Given the description of an element on the screen output the (x, y) to click on. 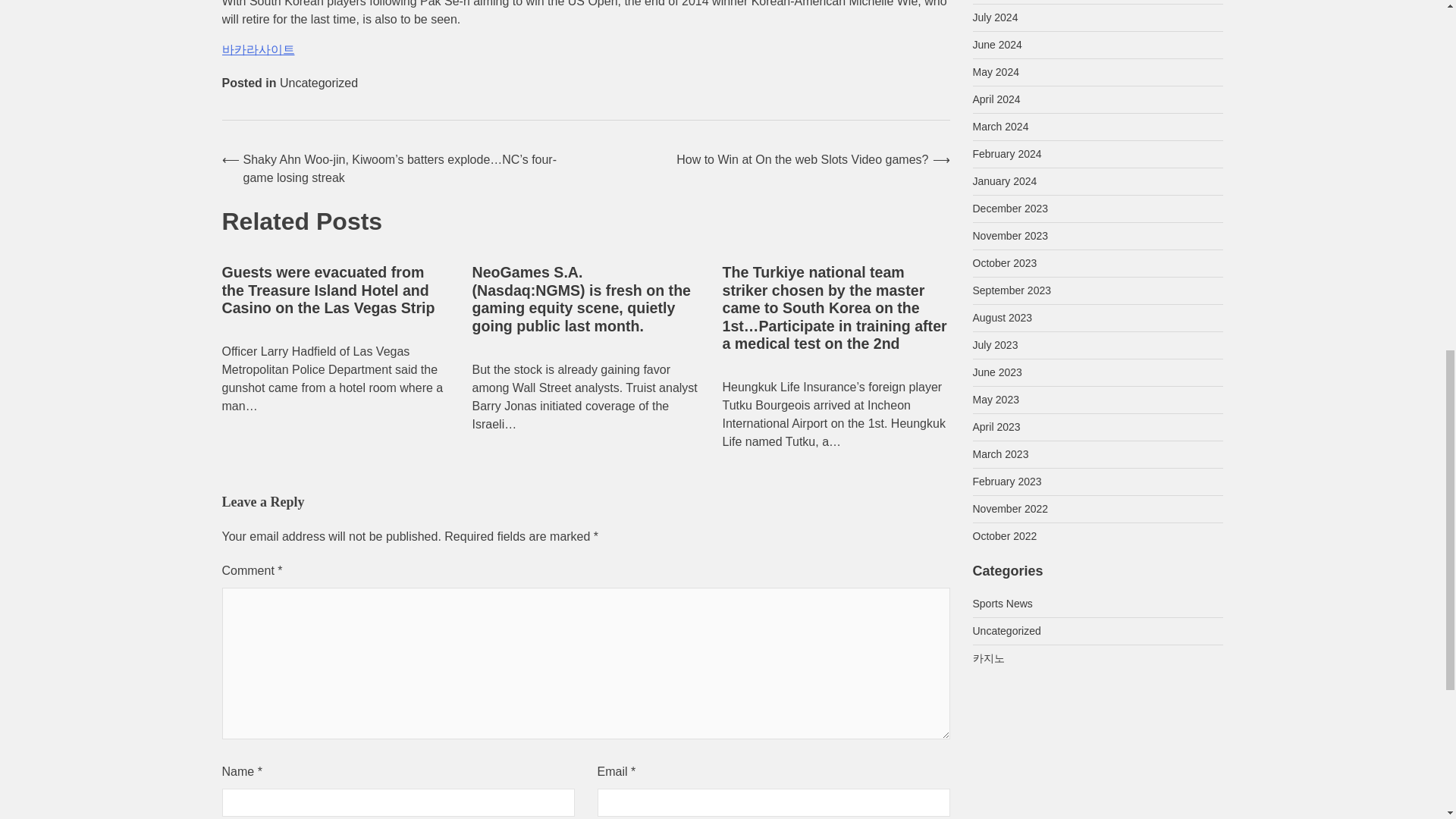
Uncategorized (318, 82)
March 2024 (999, 126)
May 2024 (994, 71)
June 2024 (997, 44)
July 2024 (994, 17)
April 2024 (996, 99)
